Given the description of an element on the screen output the (x, y) to click on. 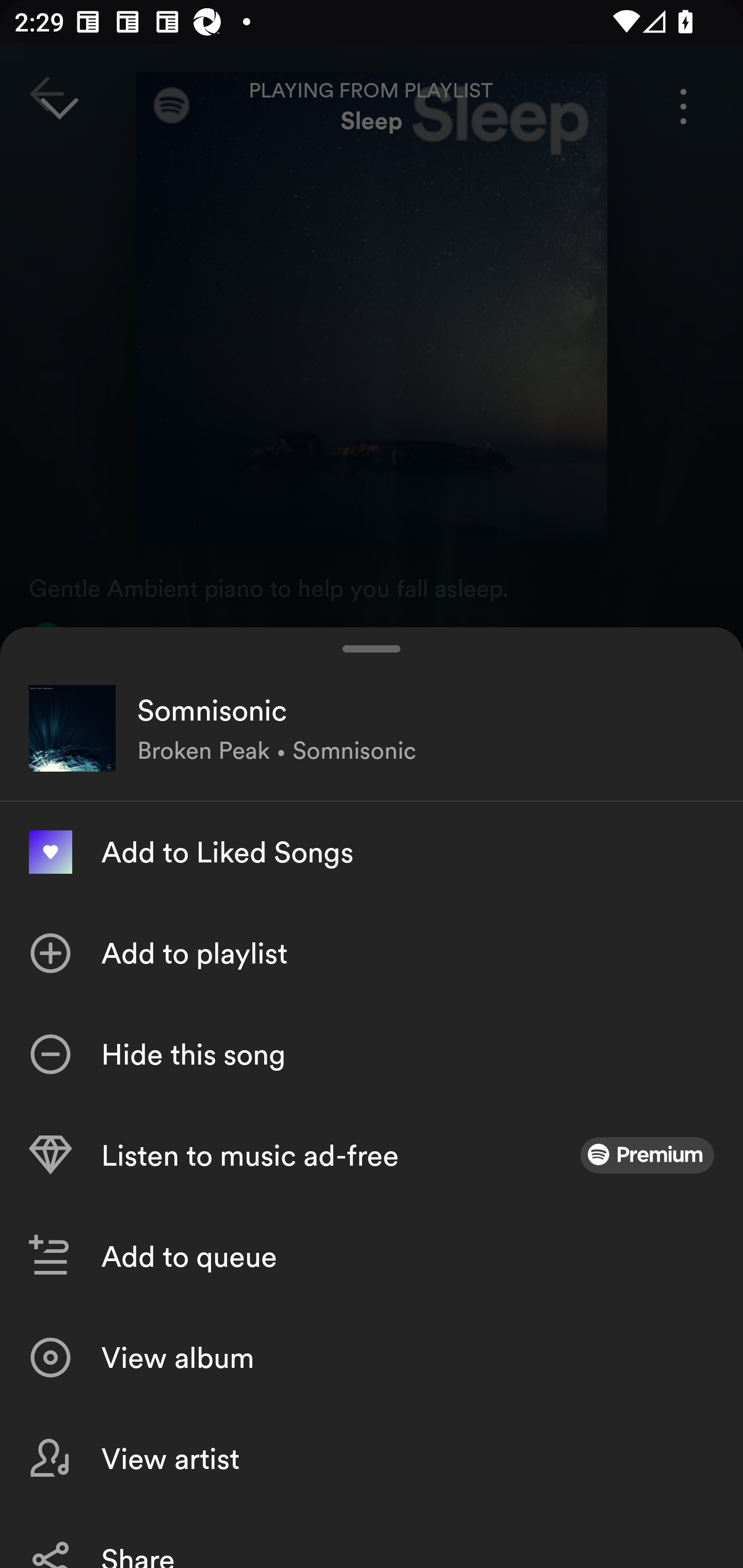
Add to Liked Songs (371, 852)
Add to playlist (371, 953)
Hide this song (371, 1054)
Listen to music ad-free (371, 1155)
Add to queue (371, 1256)
View album (371, 1357)
View artist (371, 1458)
Share (371, 1538)
